Given the description of an element on the screen output the (x, y) to click on. 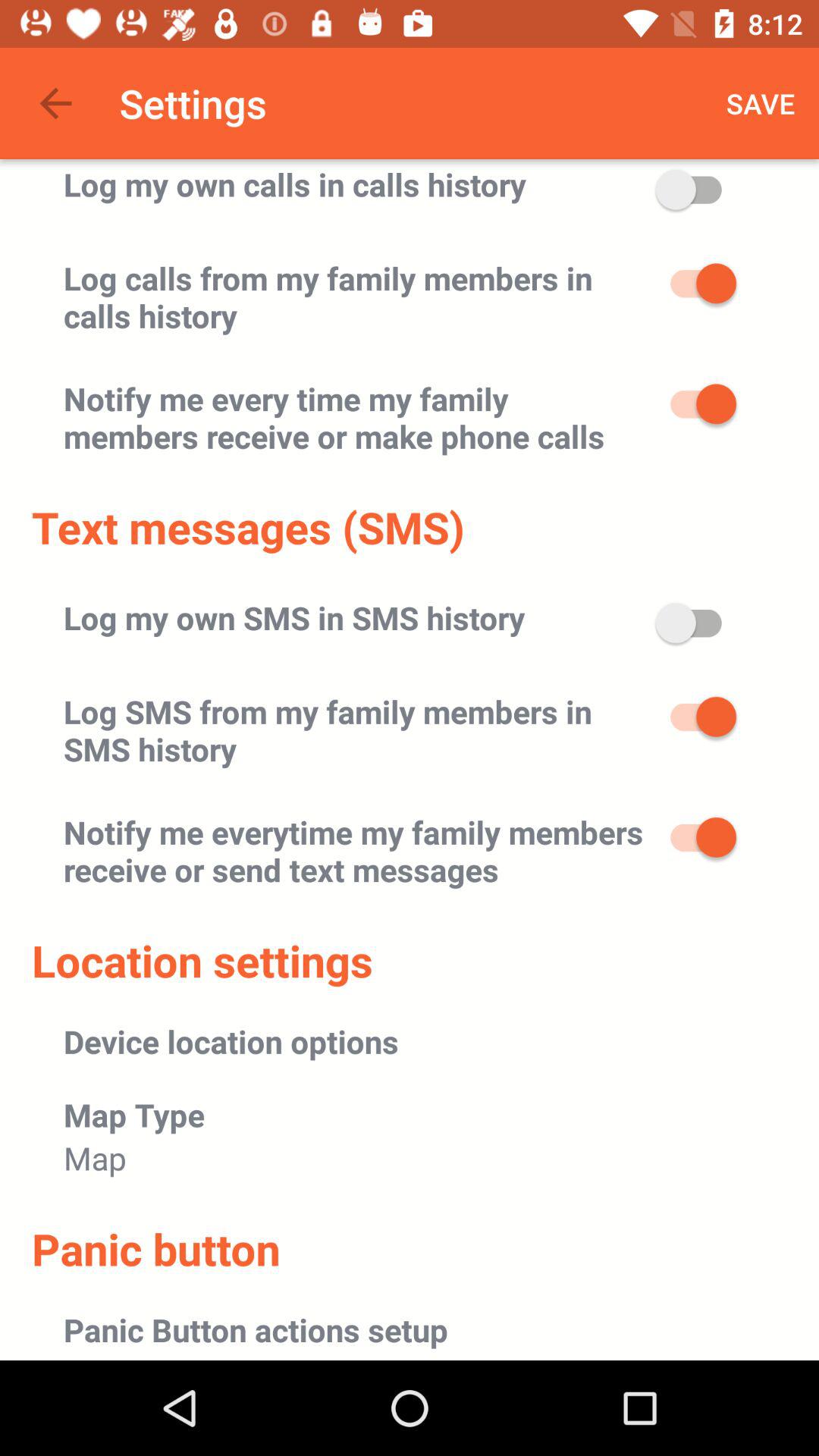
launch icon below location settings (230, 1040)
